Given the description of an element on the screen output the (x, y) to click on. 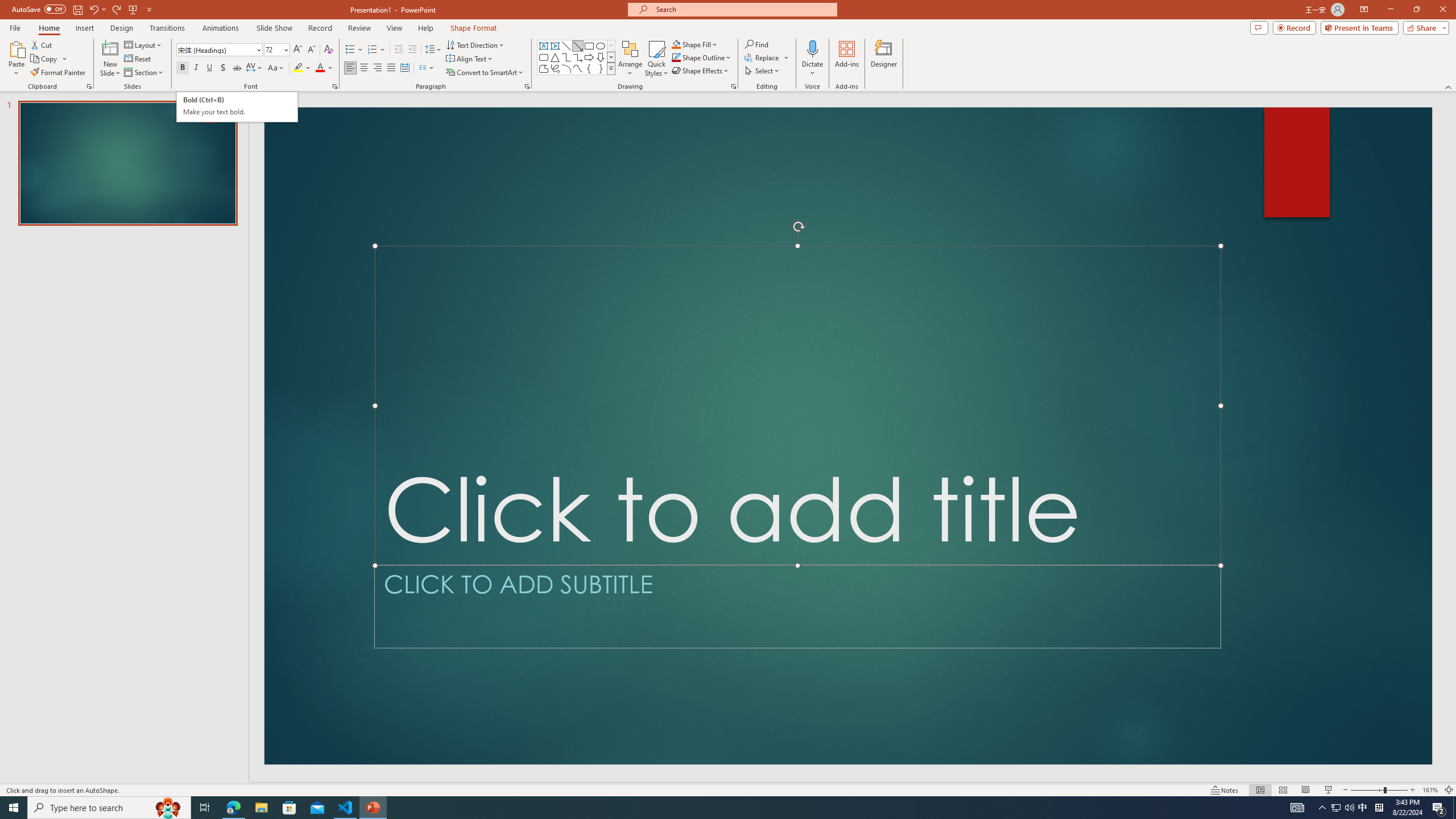
Copy (45, 58)
Bullets (354, 49)
Right Brace (600, 68)
Shape Effects (700, 69)
Connector: Elbow Arrow (577, 57)
Replace... (762, 56)
Format Painter (58, 72)
Designer (883, 58)
Align Left (349, 67)
Change Case (276, 67)
